Given the description of an element on the screen output the (x, y) to click on. 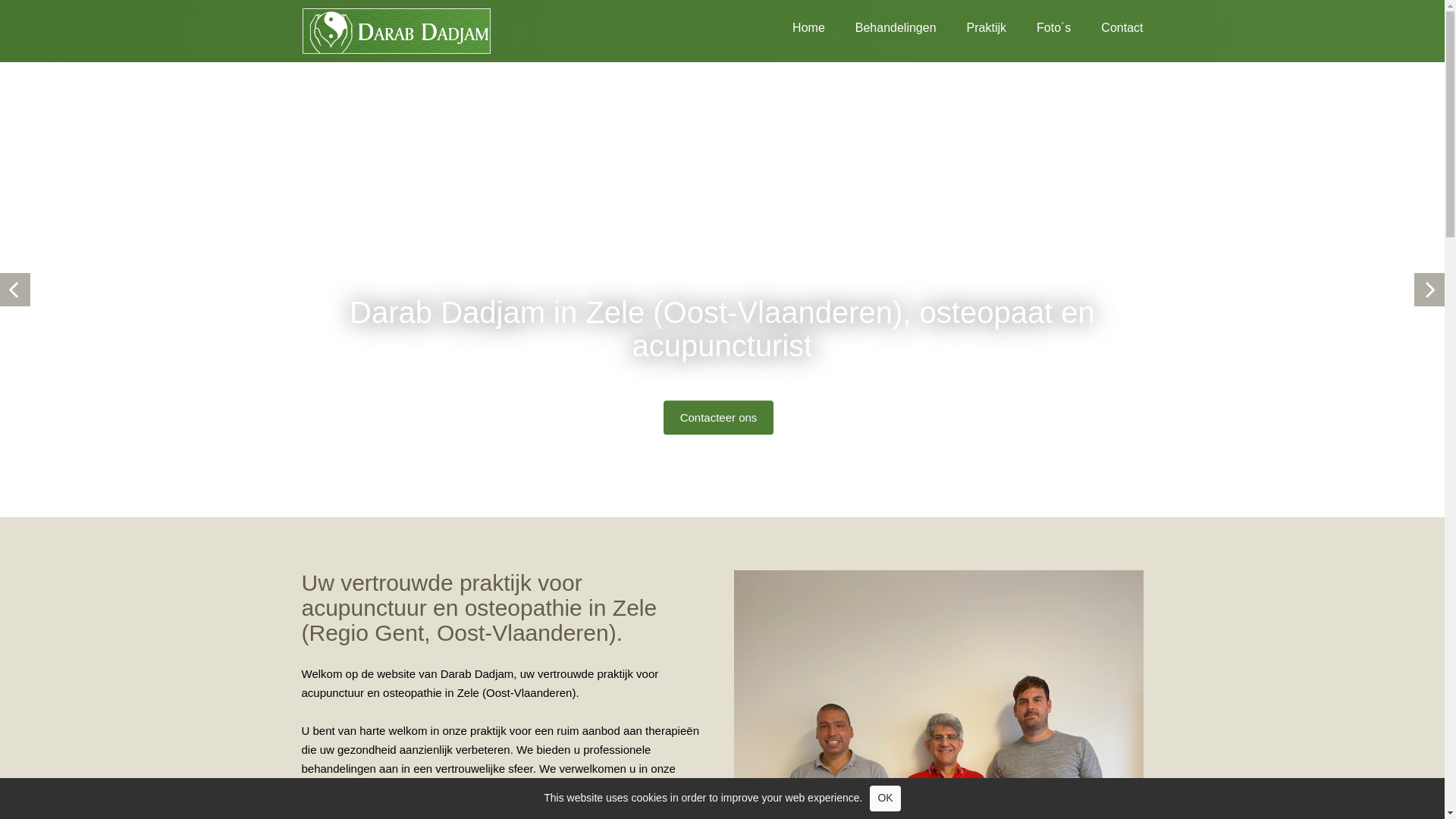
Contacteer ons Element type: text (718, 417)
Contact Element type: text (1106, 25)
Behandelingen Element type: text (880, 25)
Praktijk Element type: text (971, 25)
Home Element type: text (793, 25)
